Given the description of an element on the screen output the (x, y) to click on. 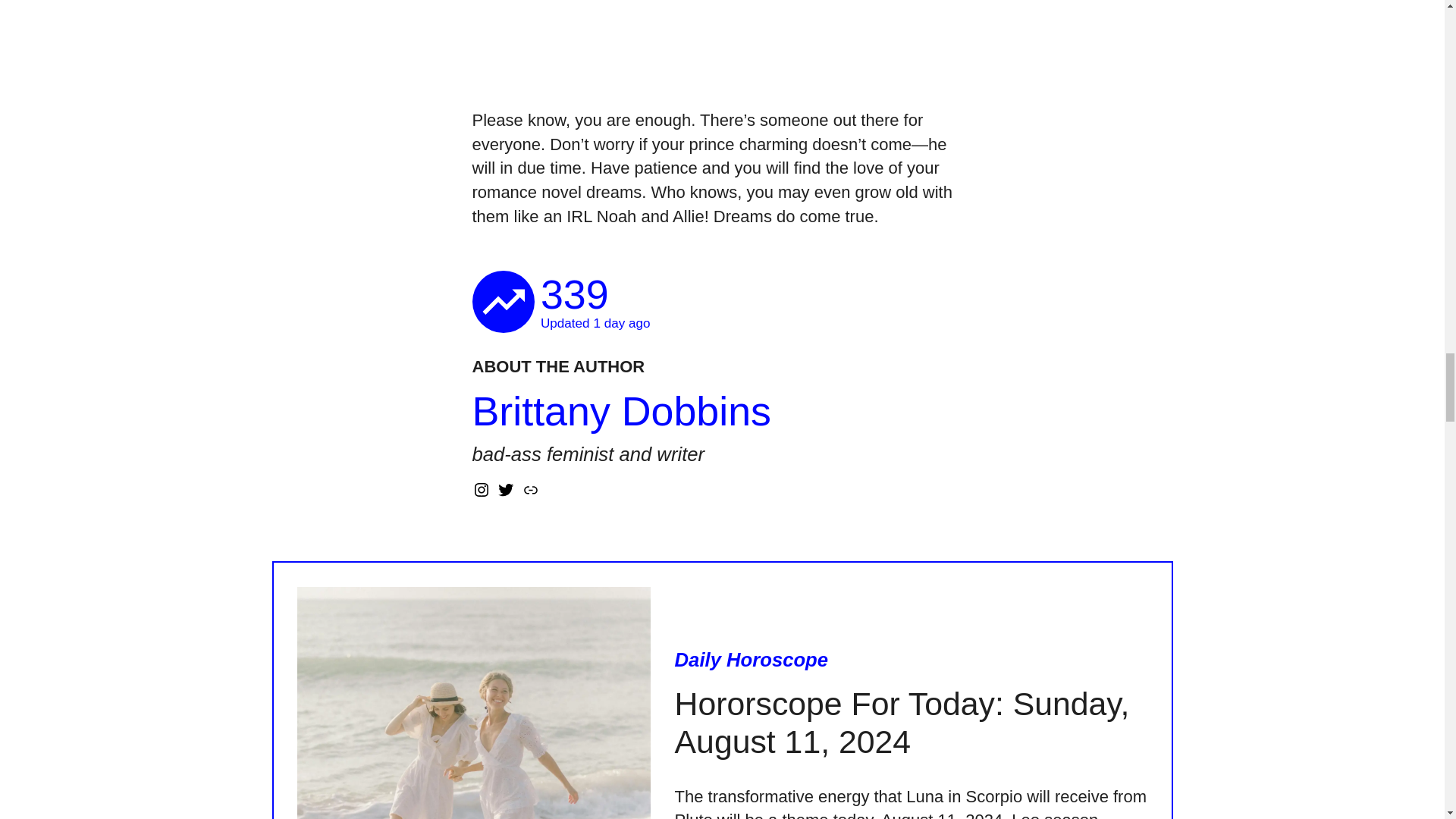
Hororscope For Today: Sunday, August 11, 2024 (911, 722)
Instagram (480, 489)
Brittany Dobbins (620, 411)
Twitter (505, 489)
Link (530, 489)
Daily Horoscope (751, 659)
